Given the description of an element on the screen output the (x, y) to click on. 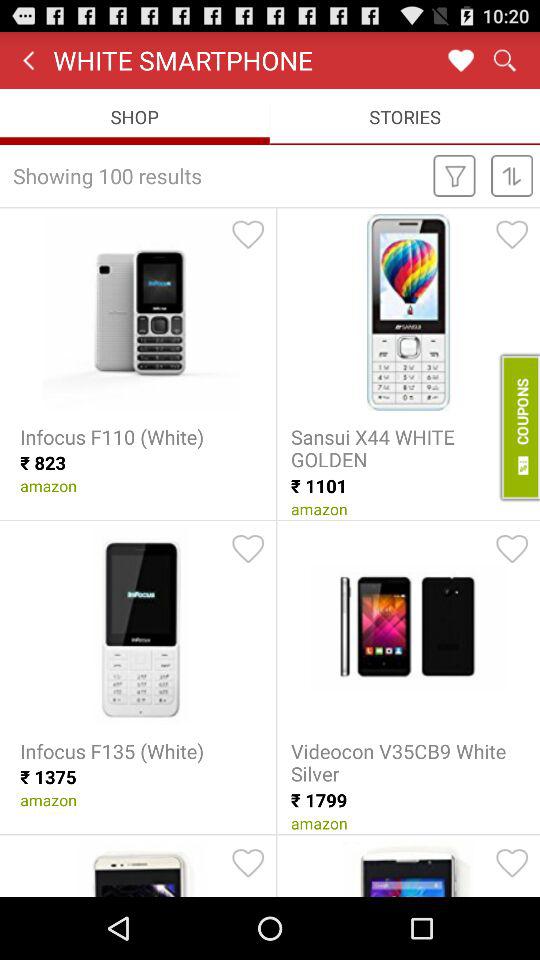
search (504, 60)
